Given the description of an element on the screen output the (x, y) to click on. 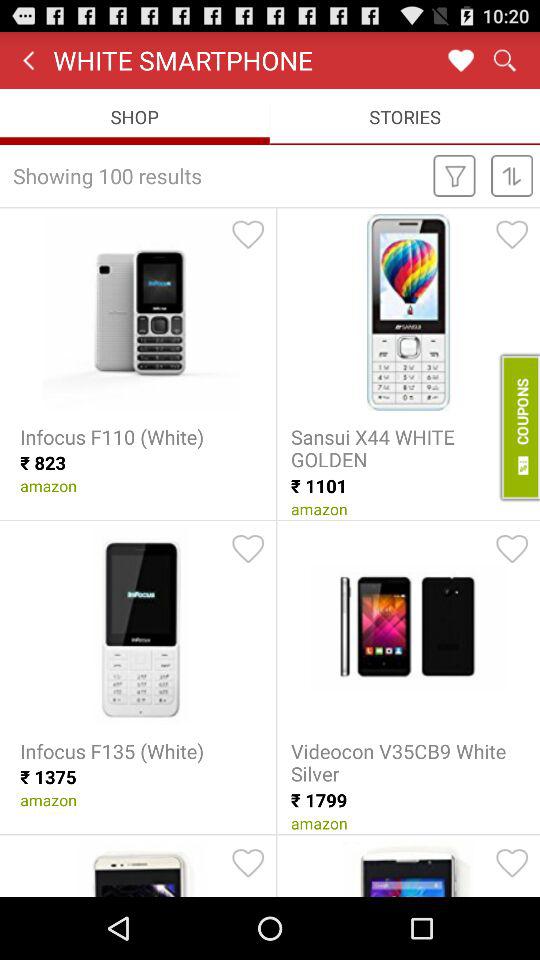
search (504, 60)
